Given the description of an element on the screen output the (x, y) to click on. 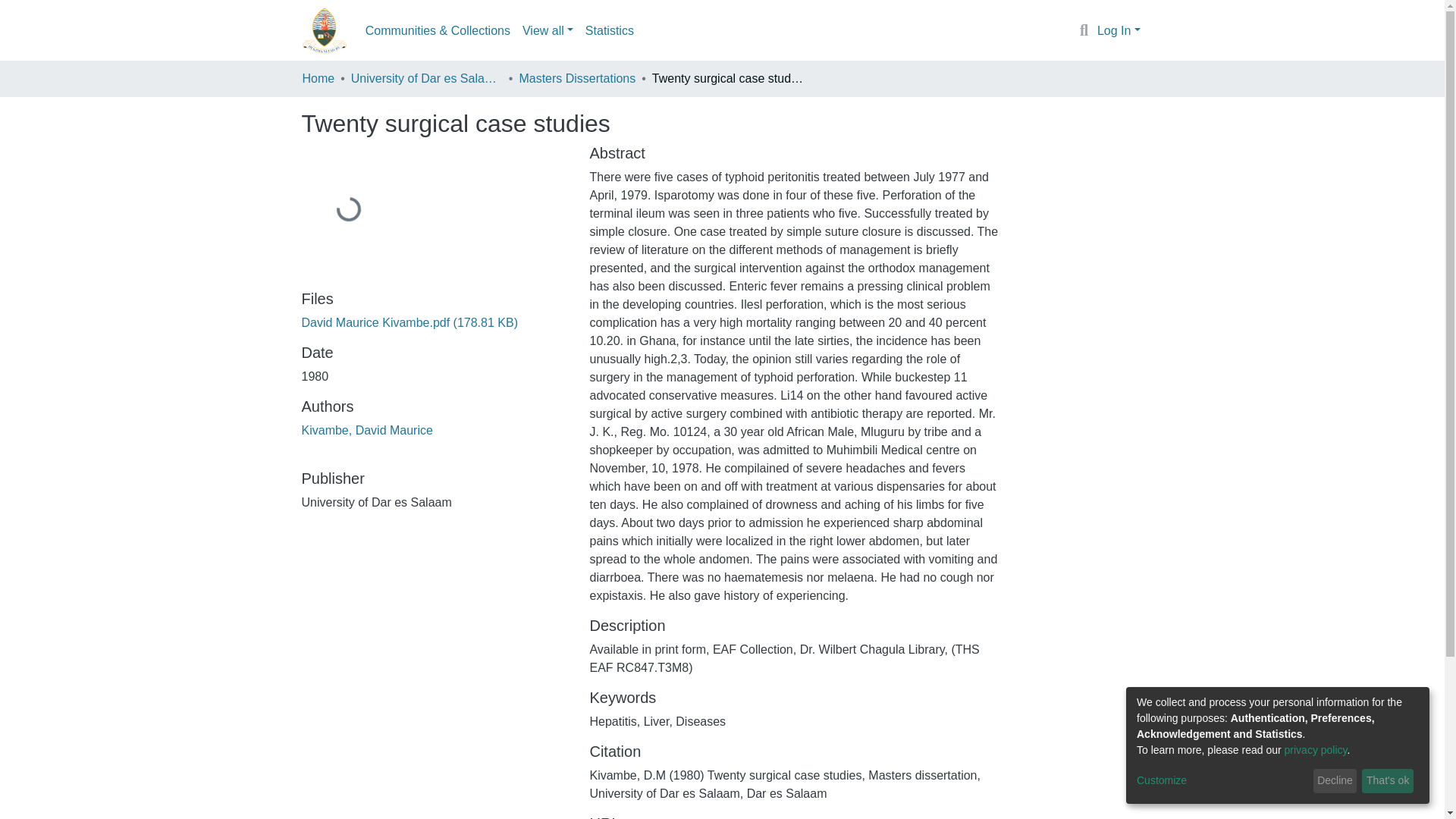
Masters Dissertations (576, 78)
That's ok (1387, 781)
Statistics (609, 30)
Home (317, 78)
Log In (1118, 30)
Decline (1334, 781)
Statistics (609, 30)
Customize (1222, 780)
privacy policy (1316, 749)
Kivambe, David Maurice (366, 430)
University of Dar es Salaam School of Health Sciences (426, 78)
View all (547, 30)
Search (1084, 30)
